Given the description of an element on the screen output the (x, y) to click on. 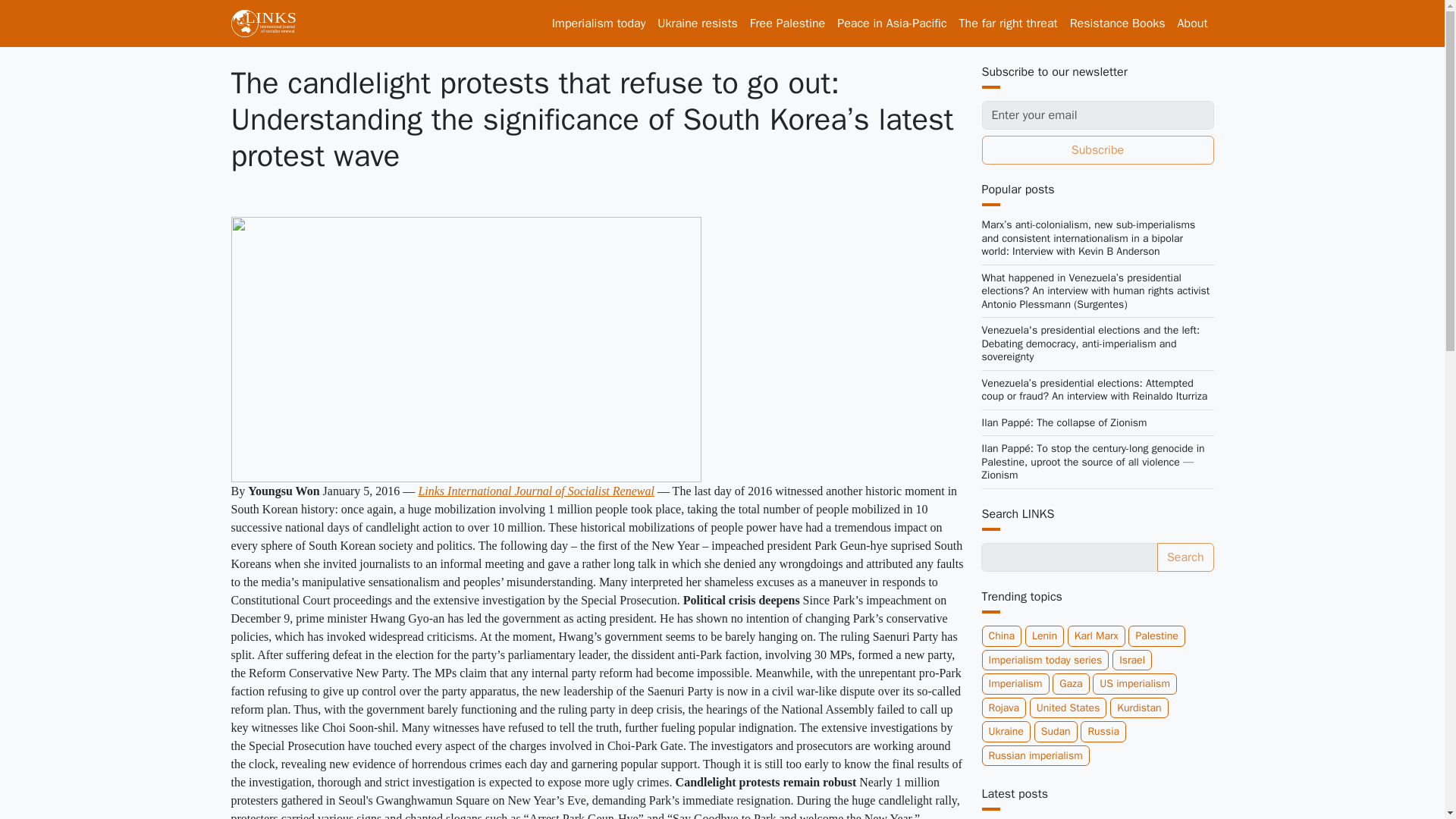
China (1001, 636)
Sudan (1055, 731)
Imperialism today series (1044, 660)
Israel (1131, 660)
Search (1185, 556)
Search (1185, 556)
Rojava (1003, 708)
Palestine (1156, 636)
Resistance Books (1118, 23)
